Given the description of an element on the screen output the (x, y) to click on. 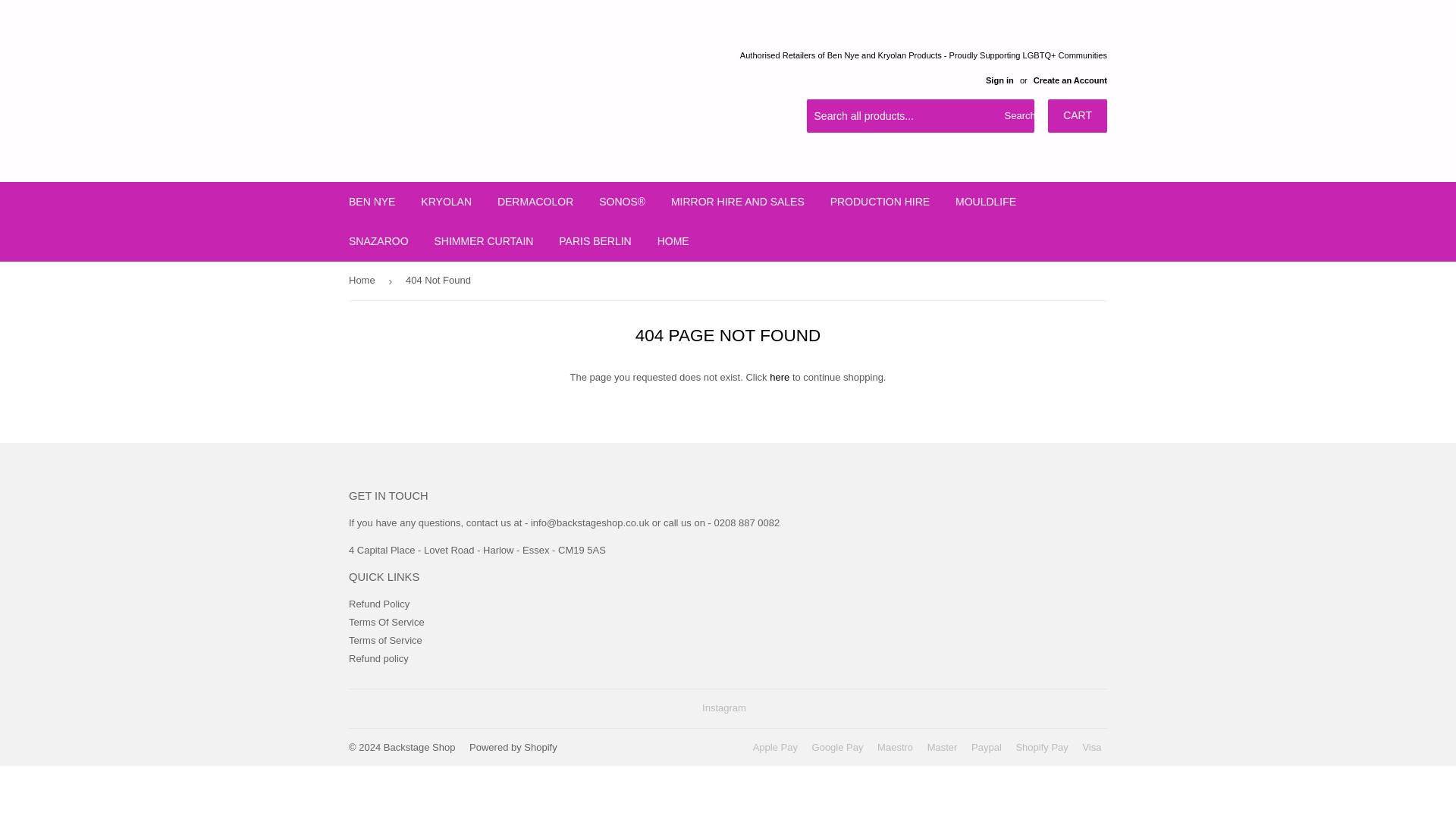
Refund Policy (379, 603)
PRODUCTION HIRE (879, 201)
Backstage Shop on Instagram (723, 707)
Search (1016, 116)
here (779, 377)
MOULDLIFE (985, 201)
Sign in (999, 80)
BEN NYE (371, 201)
Create an Account (1069, 80)
PARIS BERLIN (594, 241)
